Given the description of an element on the screen output the (x, y) to click on. 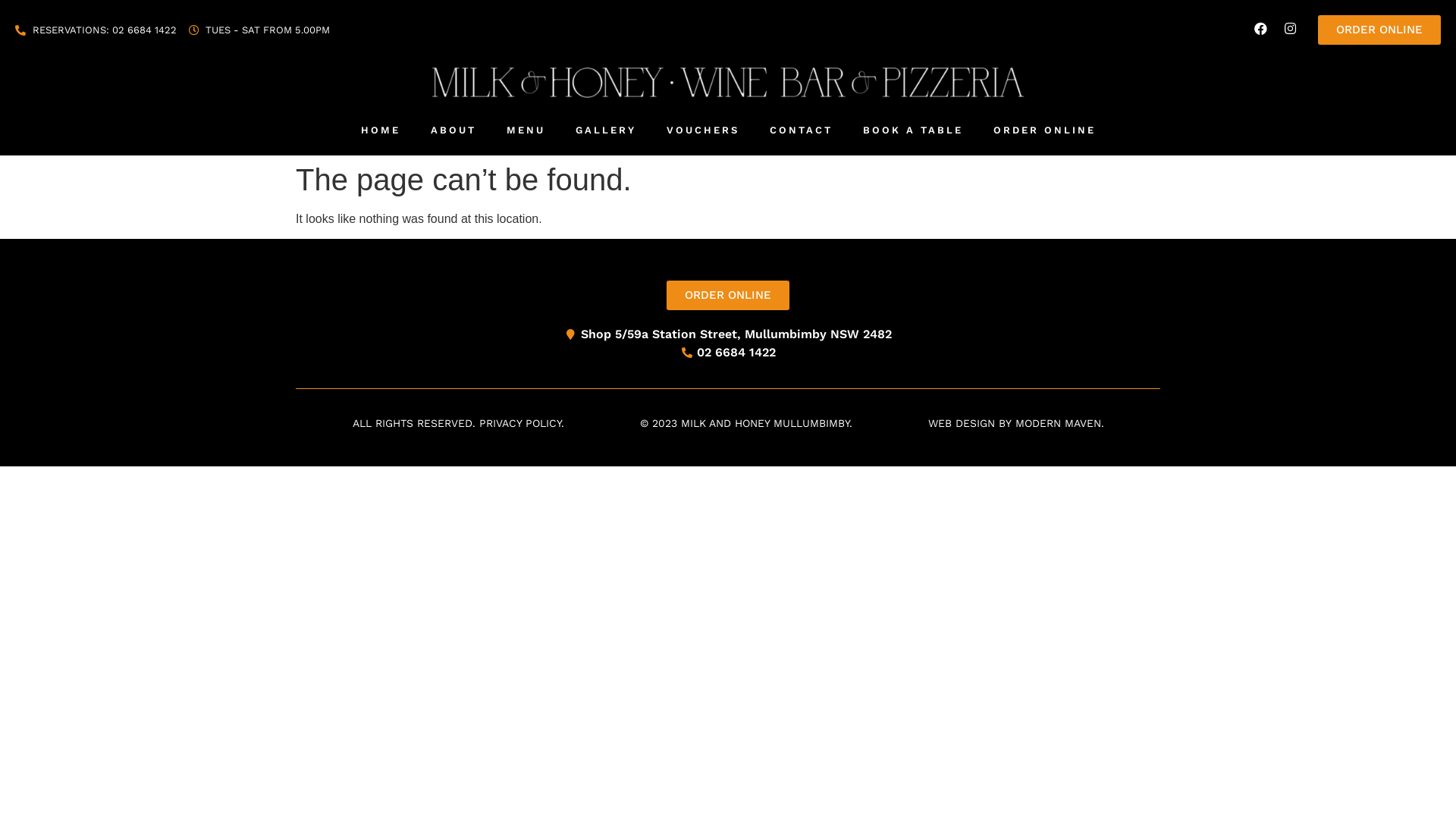
MODERN MAVEN. Element type: text (1058, 423)
ORDER ONLINE Element type: text (1378, 29)
CONTACT Element type: text (800, 129)
GALLERY Element type: text (604, 129)
HOME Element type: text (380, 129)
ORDER ONLINE Element type: text (1044, 129)
ABOUT Element type: text (453, 129)
Shop 5/59a Station Street, Mullumbimby NSW 2482 Element type: text (727, 334)
BOOK A TABLE Element type: text (912, 129)
MENU Element type: text (525, 129)
PRIVACY POLICY. Element type: text (521, 423)
ORDER ONLINE Element type: text (727, 295)
VOUCHERS Element type: text (701, 129)
02 6684 1422 Element type: text (727, 352)
RESERVATIONS: 02 6684 1422 Element type: text (95, 29)
